Given the description of an element on the screen output the (x, y) to click on. 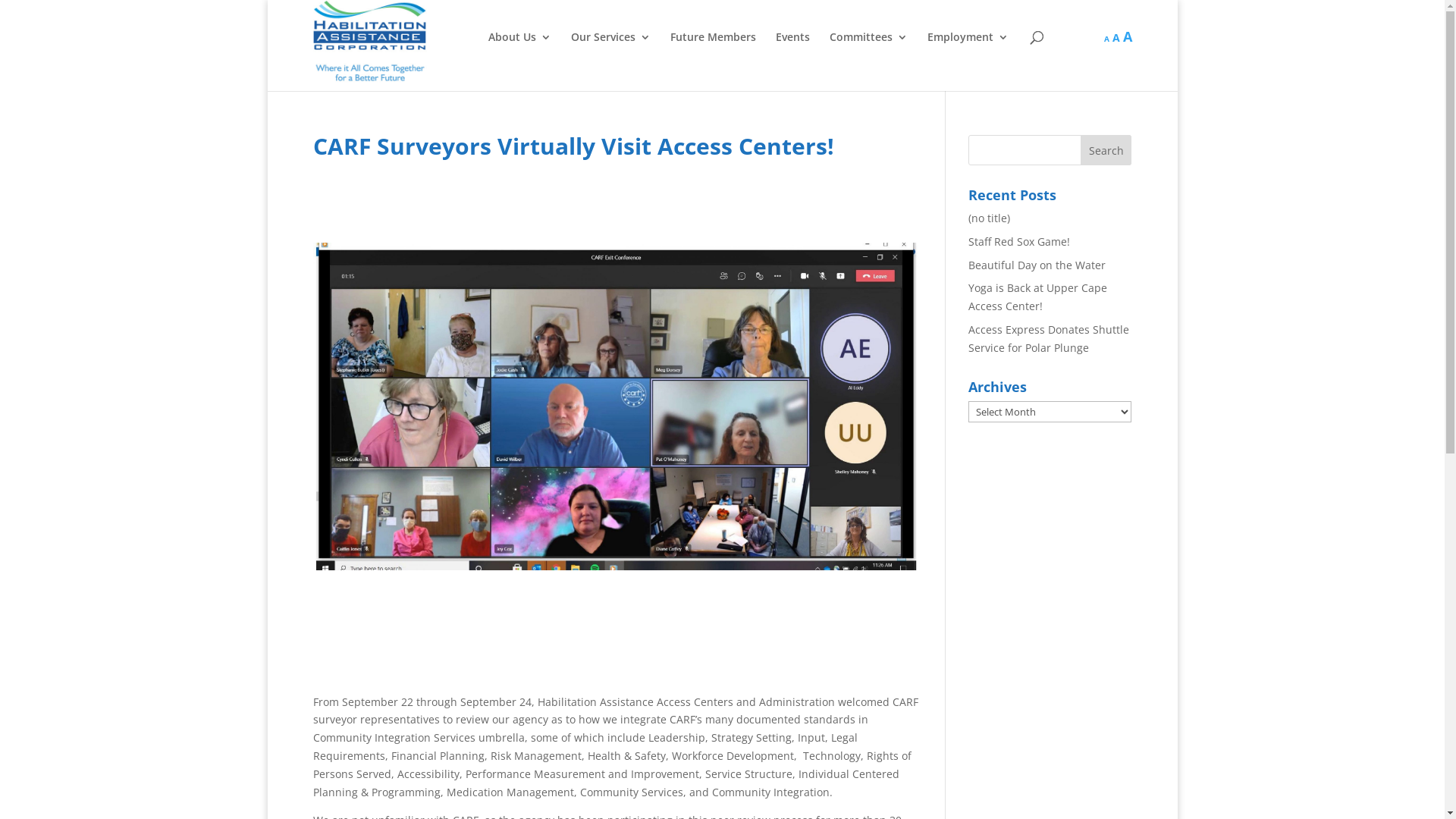
CARF Exit Conference Element type: hover (616, 406)
Our Services Element type: text (610, 47)
(no title) Element type: text (989, 217)
A
Increase font size. Element type: text (1126, 36)
Future Members Element type: text (713, 47)
Committees Element type: text (868, 47)
Search Element type: text (1106, 149)
A
Decrease font size. Element type: text (1106, 38)
Yoga is Back at Upper Cape Access Center! Element type: text (1037, 296)
About Us Element type: text (519, 47)
A
Reset font size. Element type: text (1115, 37)
Access Express Donates Shuttle Service for Polar Plunge Element type: text (1048, 338)
Employment Element type: text (967, 47)
Staff Red Sox Game! Element type: text (1019, 241)
Events Element type: text (792, 47)
Beautiful Day on the Water Element type: text (1036, 264)
